Given the description of an element on the screen output the (x, y) to click on. 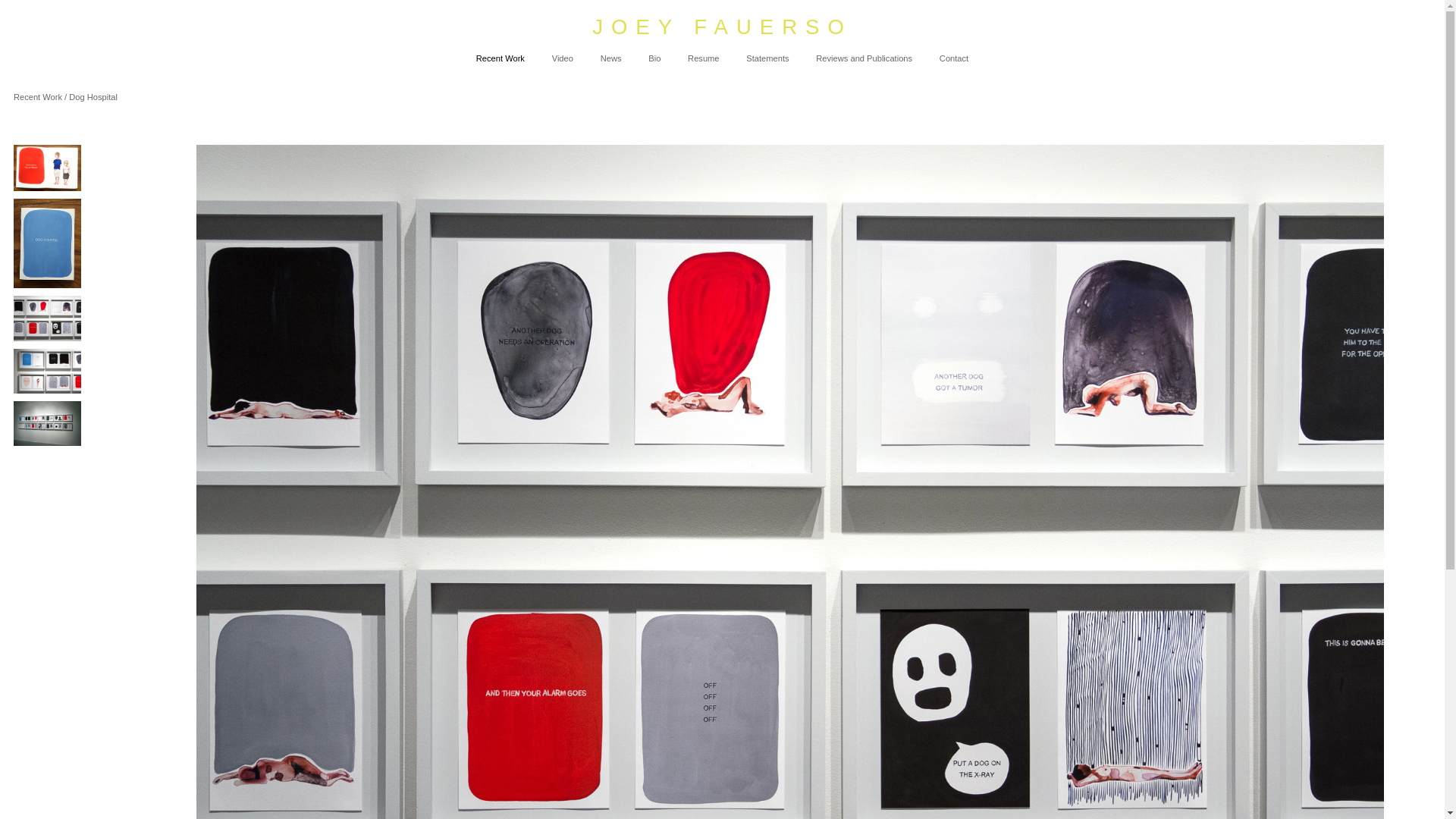
Recent Work (500, 58)
Reviews and Publications (863, 58)
Bio (654, 58)
Contact (953, 58)
Resume (703, 58)
News (610, 58)
Statements (767, 58)
Recent Work (37, 96)
JOEY FAUERSO (721, 26)
Video (562, 58)
